Given the description of an element on the screen output the (x, y) to click on. 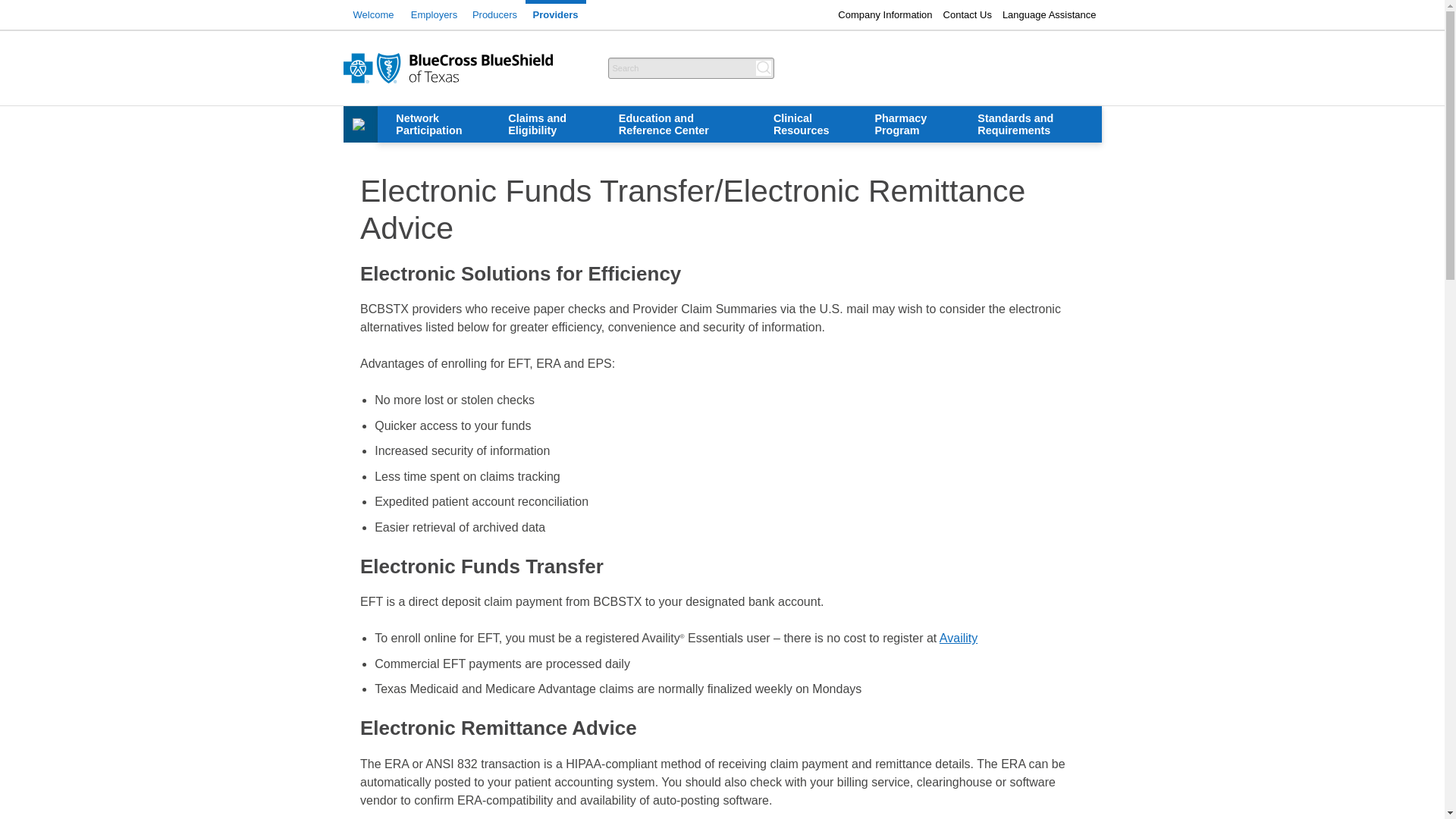
Welcome (372, 15)
Contact Us (967, 14)
Network Participation (433, 124)
Producers (494, 15)
Language Assistant (1049, 14)
Providers (554, 15)
Education and Reference Center (677, 124)
Employers (433, 15)
Claims and Eligibility (544, 124)
Language Assistance (1049, 14)
